Given the description of an element on the screen output the (x, y) to click on. 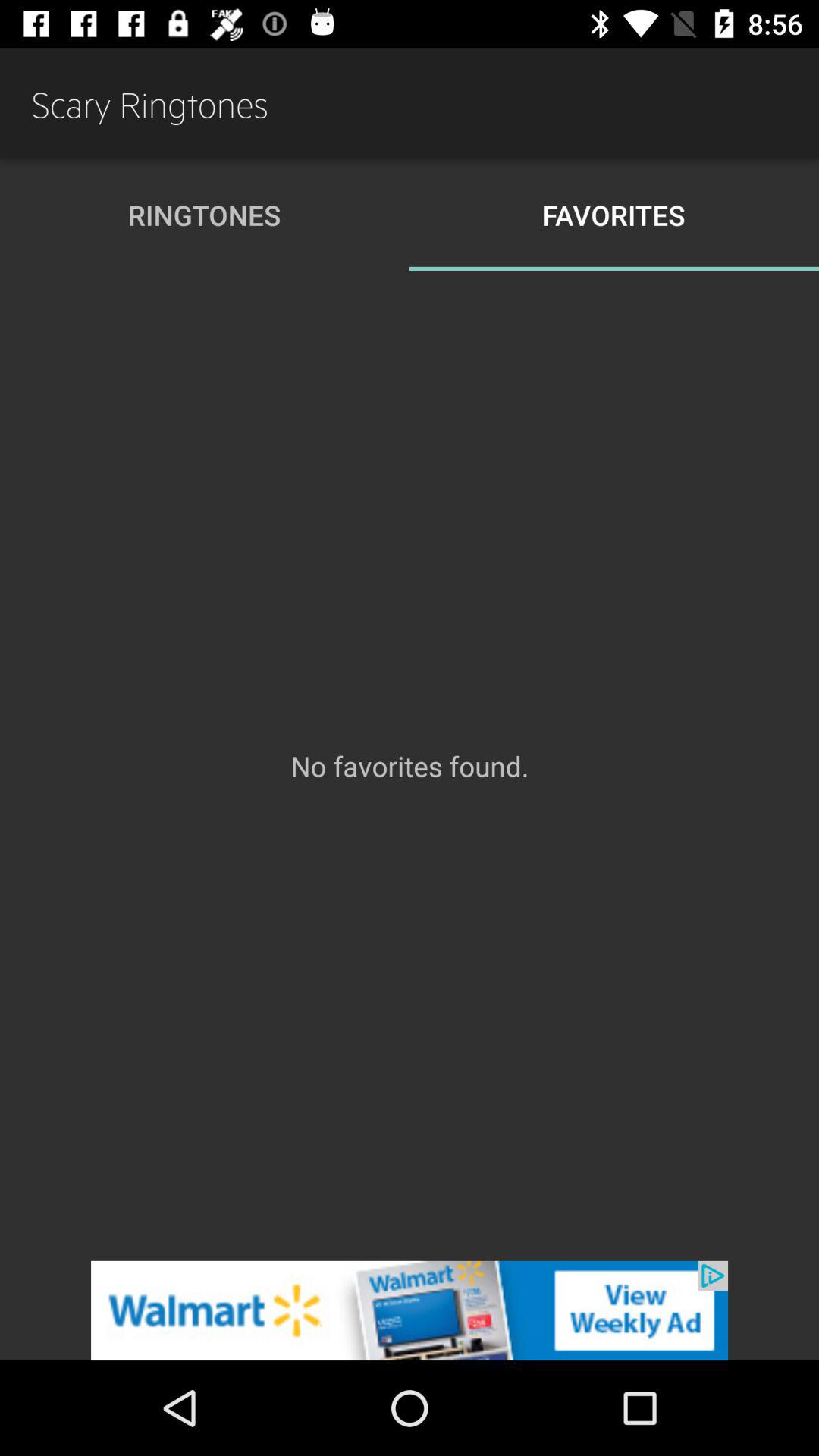
add banner (409, 1310)
